Given the description of an element on the screen output the (x, y) to click on. 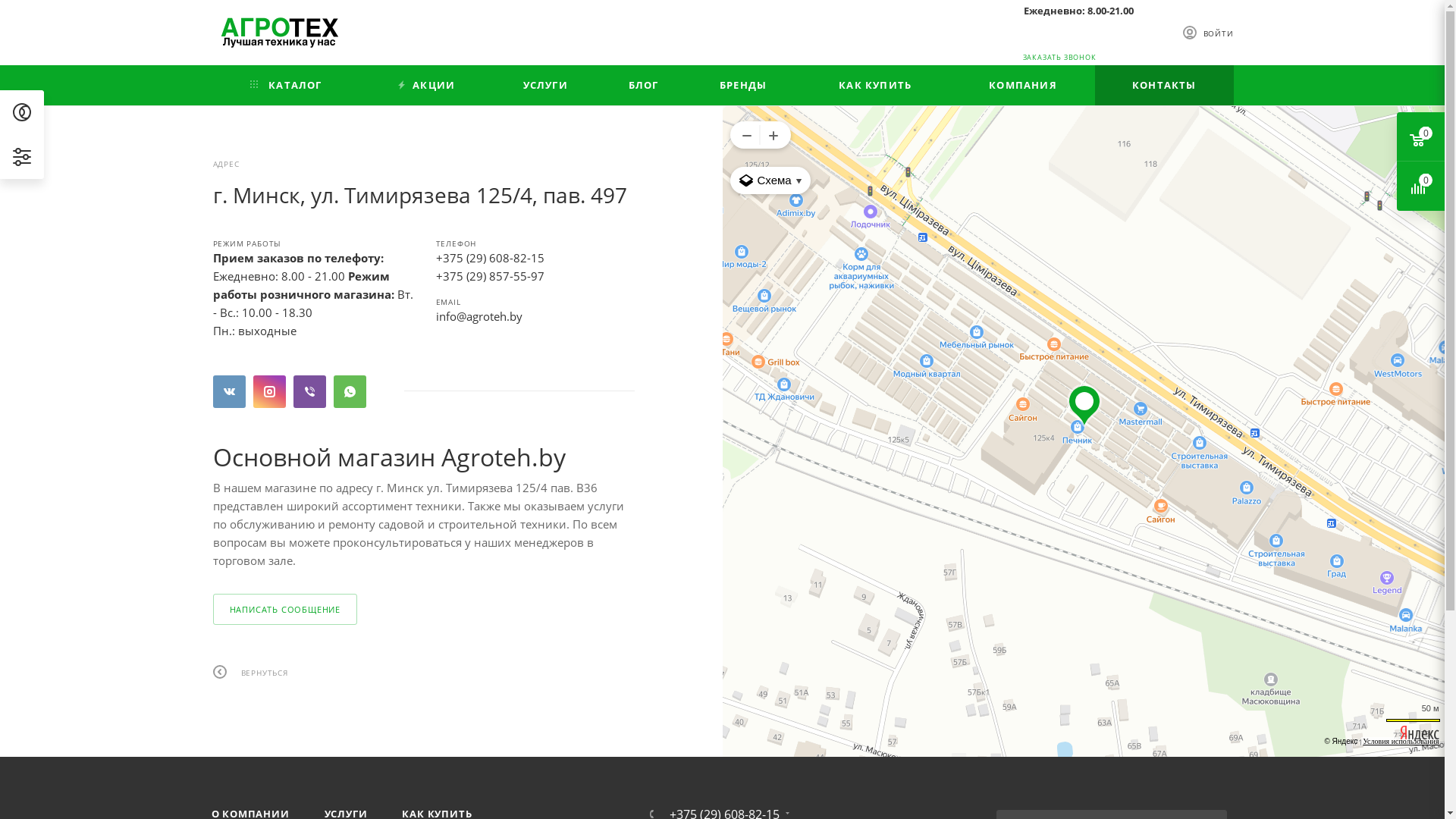
info@agroteh.by Element type: text (478, 315)
Viber Element type: text (308, 391)
WhatsApp Element type: text (349, 391)
+375 (29) 608-82-15 Element type: text (489, 257)
+375 (29) 857-55-97 Element type: text (489, 275)
Instagram Element type: text (269, 391)
